Given the description of an element on the screen output the (x, y) to click on. 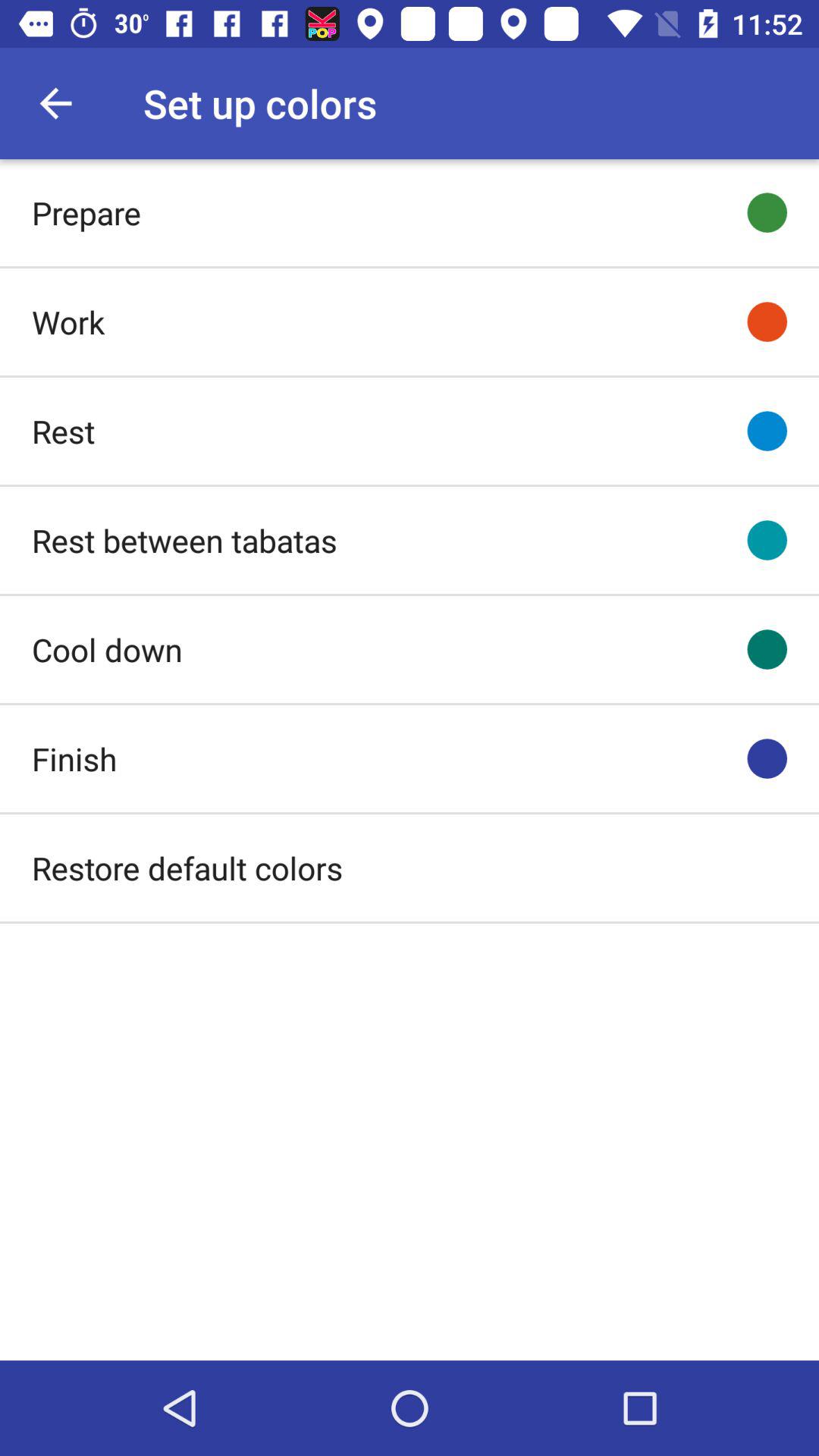
tap icon above rest icon (67, 321)
